Given the description of an element on the screen output the (x, y) to click on. 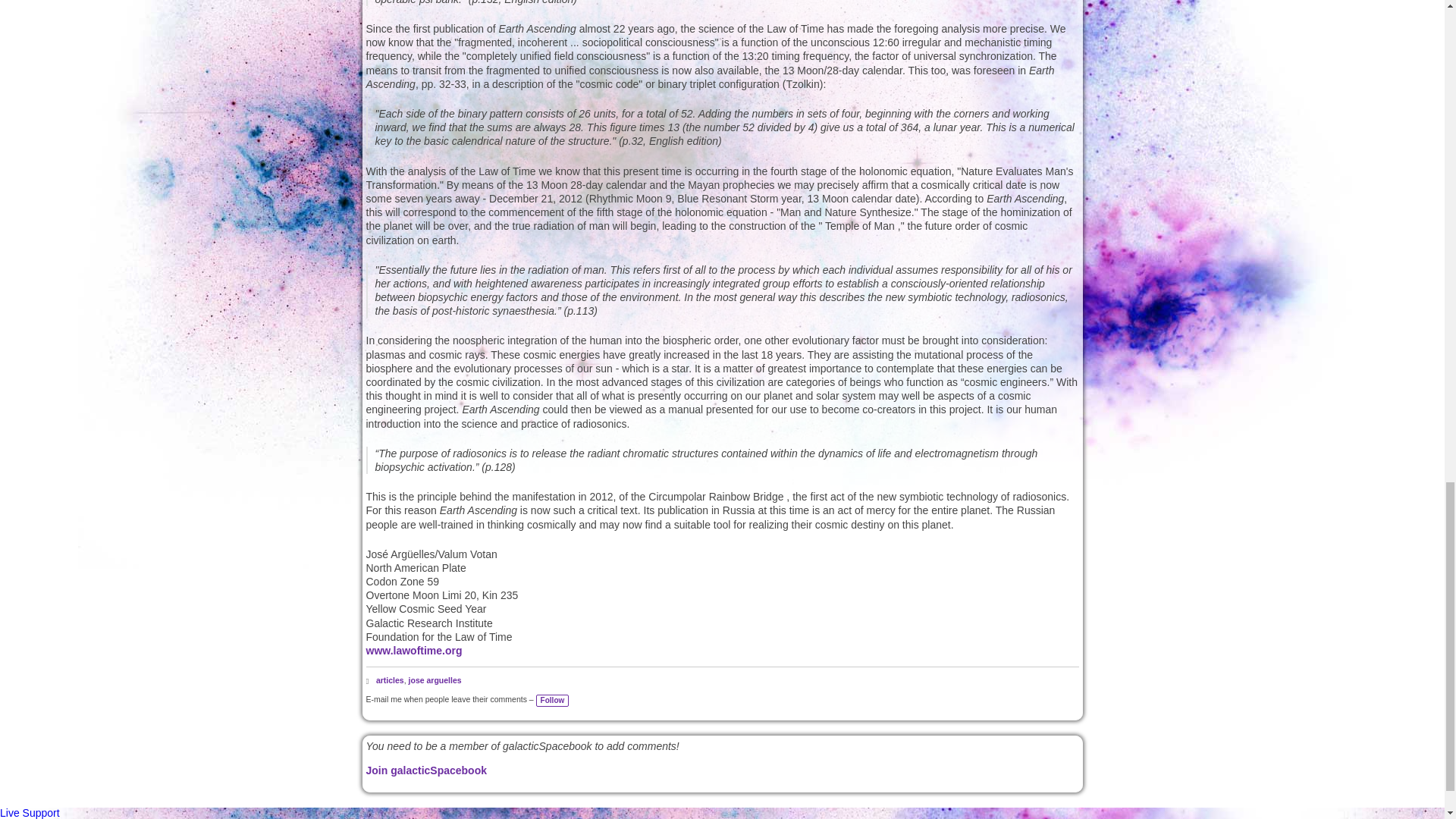
Tags: (369, 681)
